Given the description of an element on the screen output the (x, y) to click on. 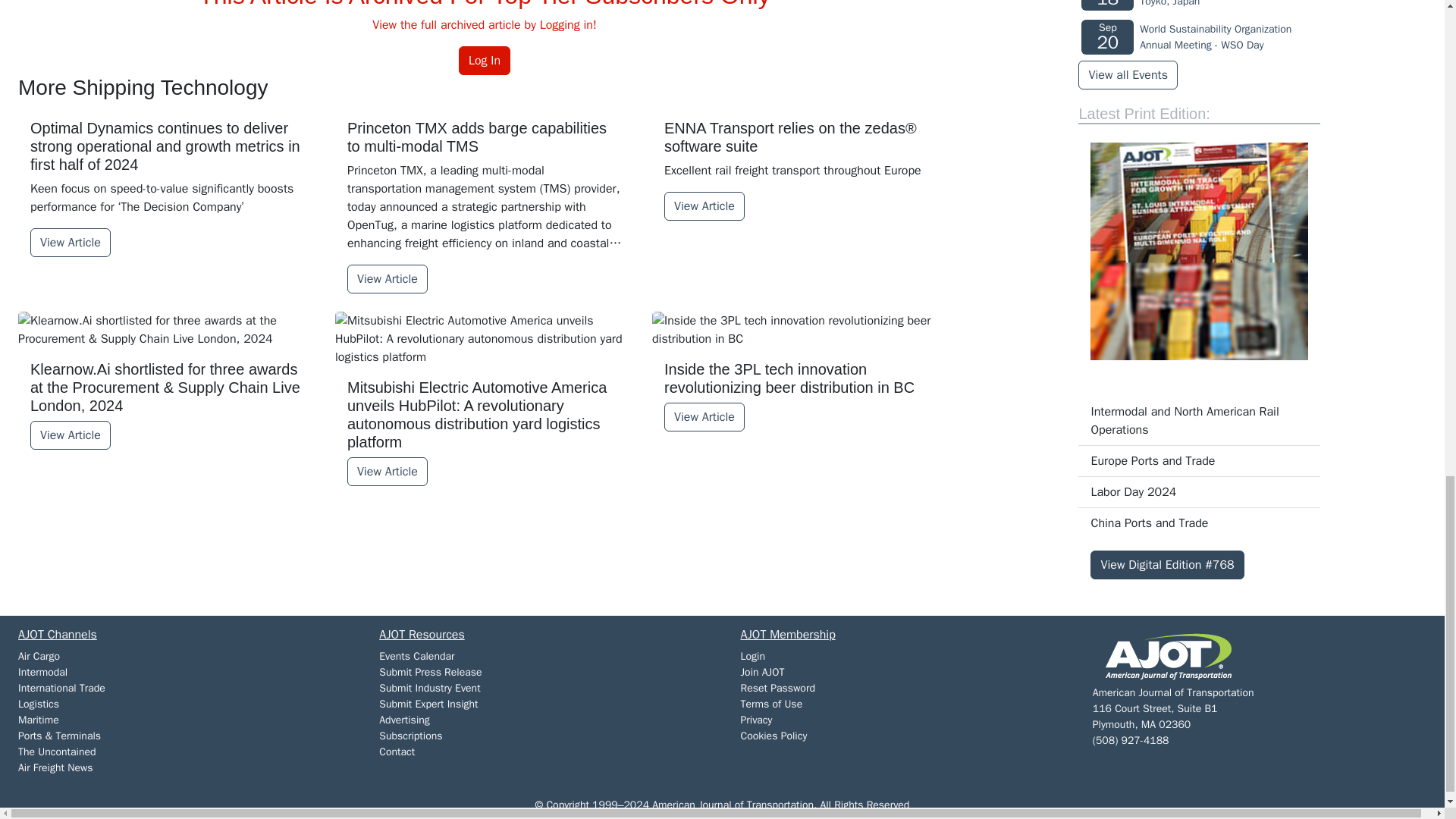
Visit Air Freight News (55, 767)
View Article (387, 278)
View Article (703, 205)
View Article (70, 434)
Maritime transportation, goods, services and regulation news (38, 719)
